Given the description of an element on the screen output the (x, y) to click on. 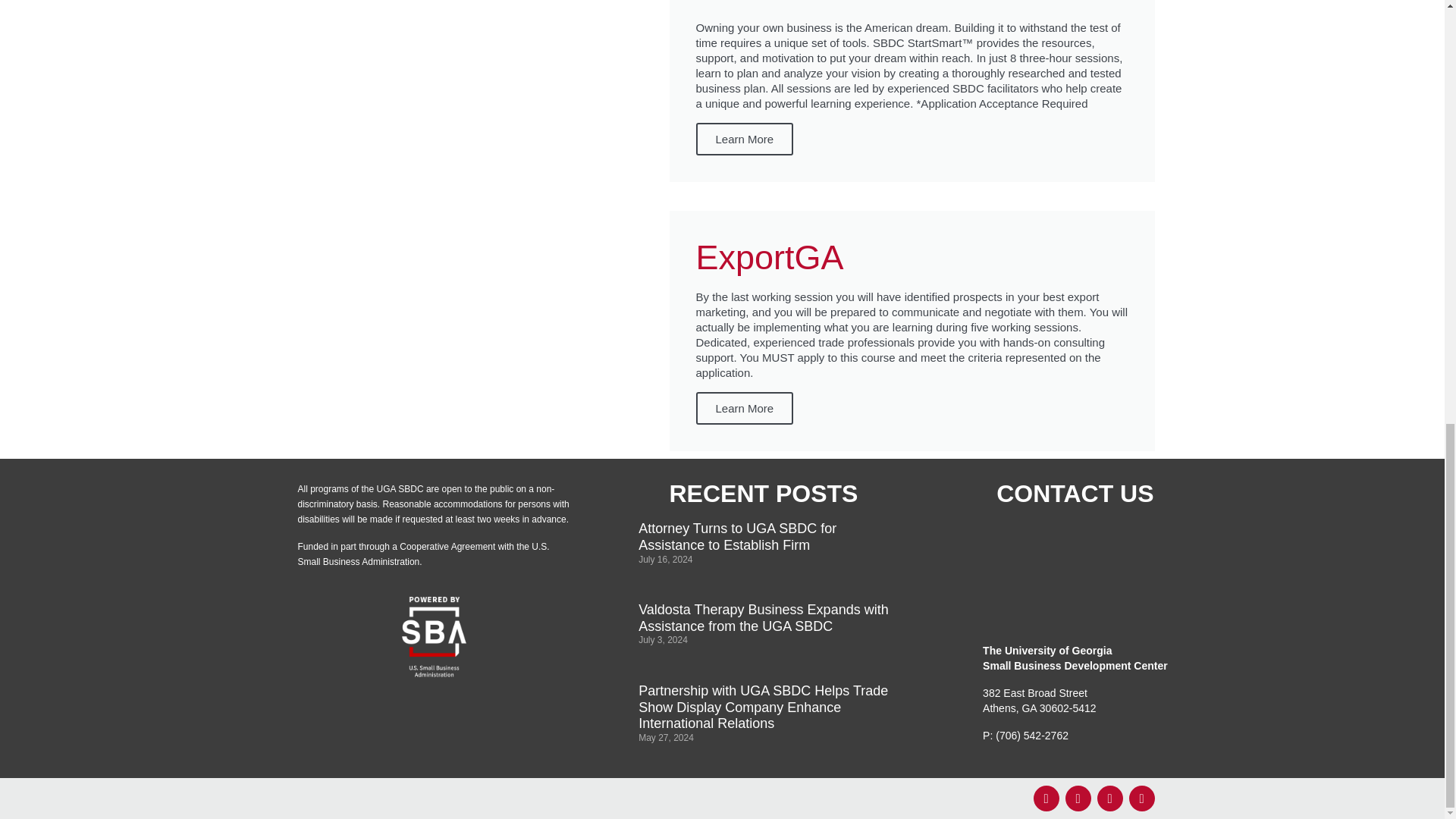
Learn More (744, 408)
Attorney Turns to UGA SBDC for Assistance to Establish Firm (737, 536)
382 East Broad Street, Athens GA 30622 (1075, 574)
Learn More (744, 138)
